Given the description of an element on the screen output the (x, y) to click on. 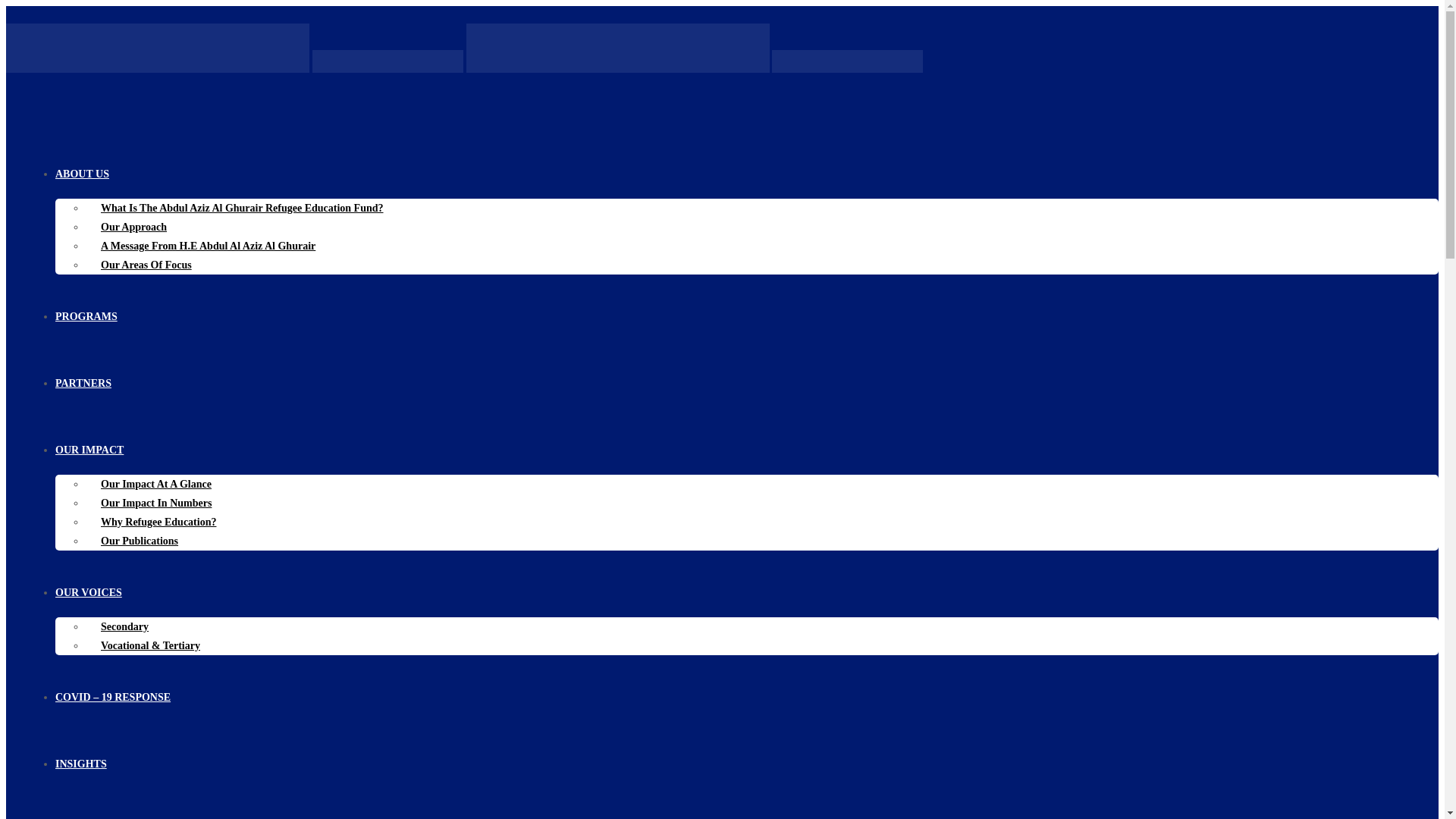
Secondary (124, 626)
Our Areas Of Focus (145, 265)
Why Refugee Education? (158, 521)
PARTNERS (83, 383)
Our Impact In Numbers (156, 502)
ABOUT US (82, 173)
INSIGHTS (80, 763)
Our Approach (133, 226)
Our Publications (139, 541)
OUR IMPACT (89, 449)
PROGRAMS (86, 316)
What Is The Abdul Aziz Al Ghurair Refugee Education Fund? (241, 207)
OUR VOICES (88, 592)
Our Impact At A Glance (156, 483)
A Message From H.E Abdul Al Aziz Al Ghurair (207, 245)
